Given the description of an element on the screen output the (x, y) to click on. 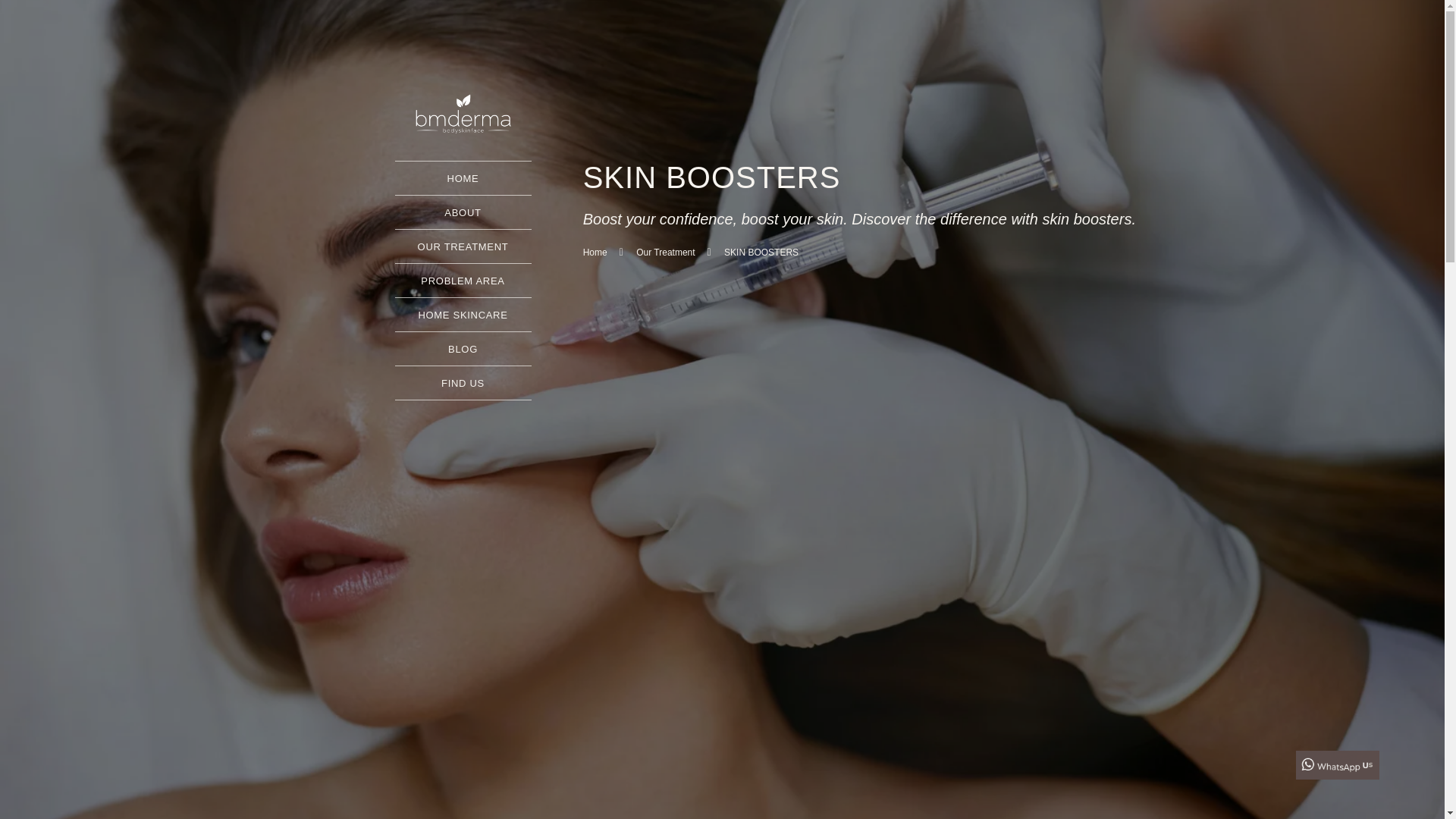
PROBLEM AREA (461, 280)
FIND US (462, 383)
BLOG (462, 348)
OUR TREATMENT (462, 246)
Home (595, 252)
HOME (462, 178)
Our Treatment (657, 252)
ABOUT (462, 212)
HOME SKINCARE (461, 315)
